Given the description of an element on the screen output the (x, y) to click on. 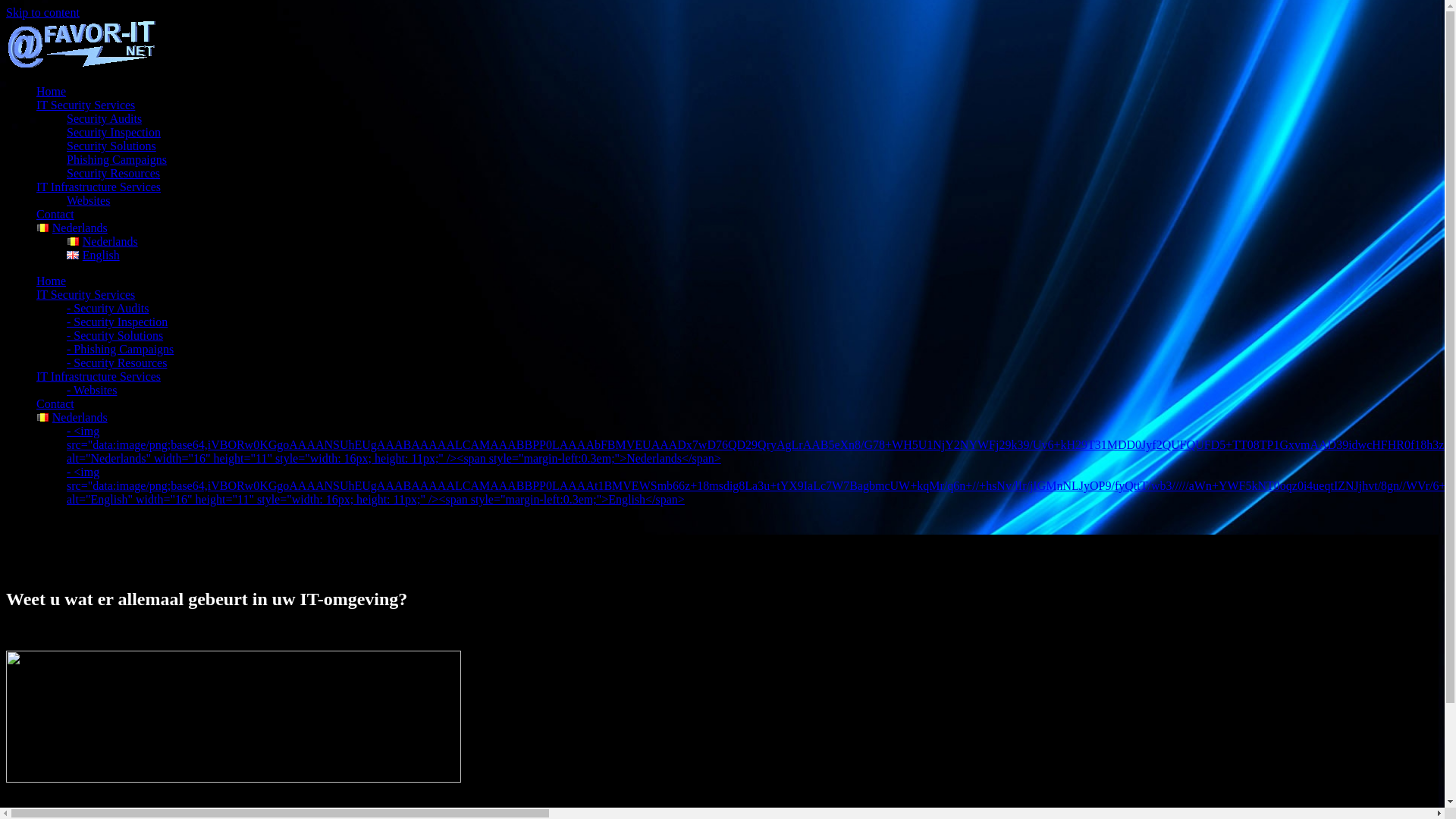
Nederlands Element type: text (71, 227)
Security Solutions Element type: text (111, 145)
English Element type: text (92, 254)
IT Infrastructure Services Element type: text (98, 186)
- Websites Element type: text (91, 389)
Security Resources Element type: text (113, 172)
- Security Inspection Element type: text (116, 321)
IT Security Services Element type: text (85, 104)
Websites Element type: text (87, 200)
Contact Element type: text (55, 403)
- Phishing Campaigns Element type: text (119, 348)
- Security Audits Element type: text (107, 307)
Home Element type: text (50, 280)
Phishing Campaigns Element type: text (116, 159)
IT Security Services Element type: text (85, 294)
- Security Resources Element type: text (116, 362)
Skip to content Element type: text (42, 12)
Home Element type: text (50, 90)
Plaatsing van A FAVOR-IT Threat Inspector Element type: hover (233, 777)
IT Infrastructure Services Element type: text (98, 376)
Security Inspection Element type: text (113, 131)
Nederlands Element type: text (102, 241)
Security Audits Element type: text (103, 118)
Contact Element type: text (55, 213)
Nederlands Element type: text (71, 417)
- Security Solutions Element type: text (114, 335)
